Given the description of an element on the screen output the (x, y) to click on. 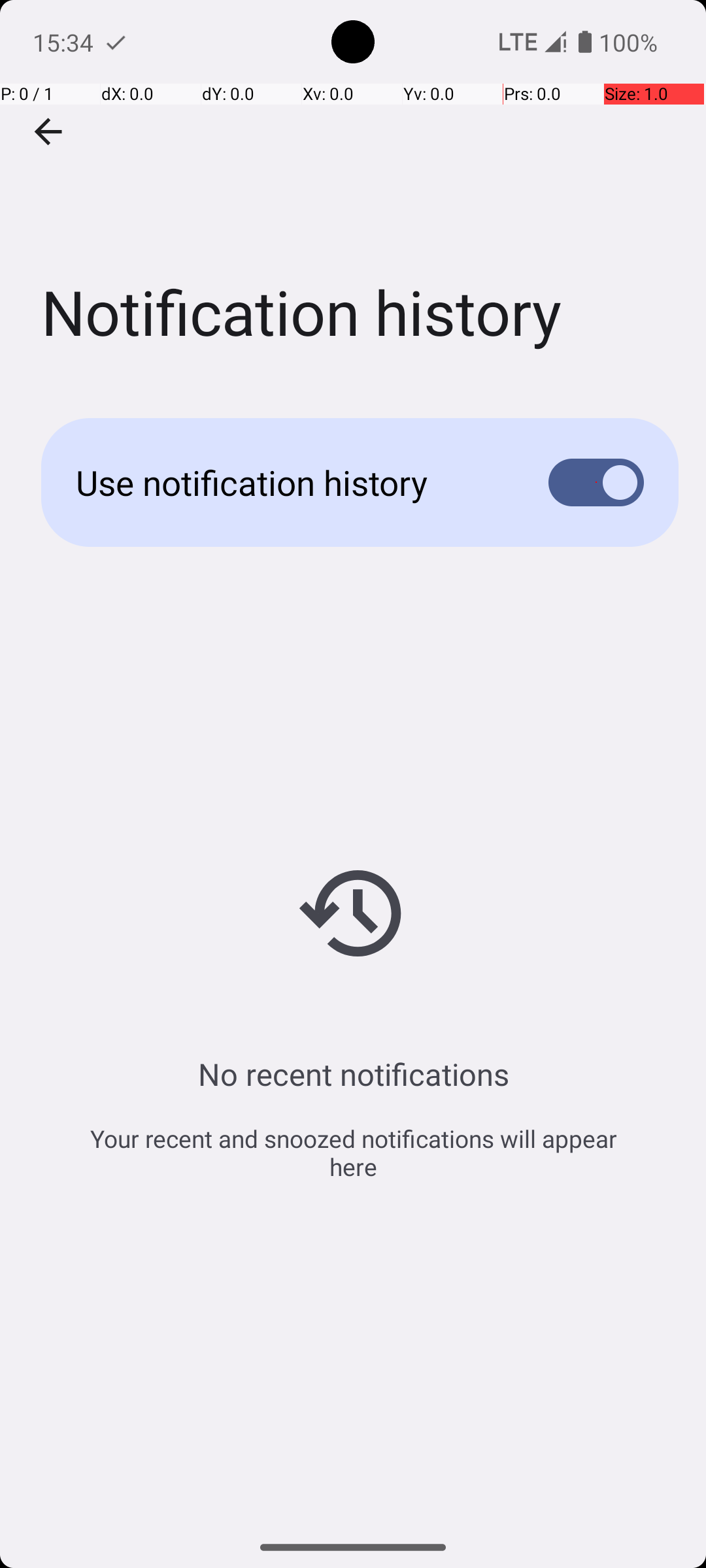
No recent notifications Element type: android.widget.TextView (352, 1073)
Your recent and snoozed notifications will appear here Element type: android.widget.TextView (352, 1152)
Use notification history Element type: android.widget.TextView (291, 482)
